Given the description of an element on the screen output the (x, y) to click on. 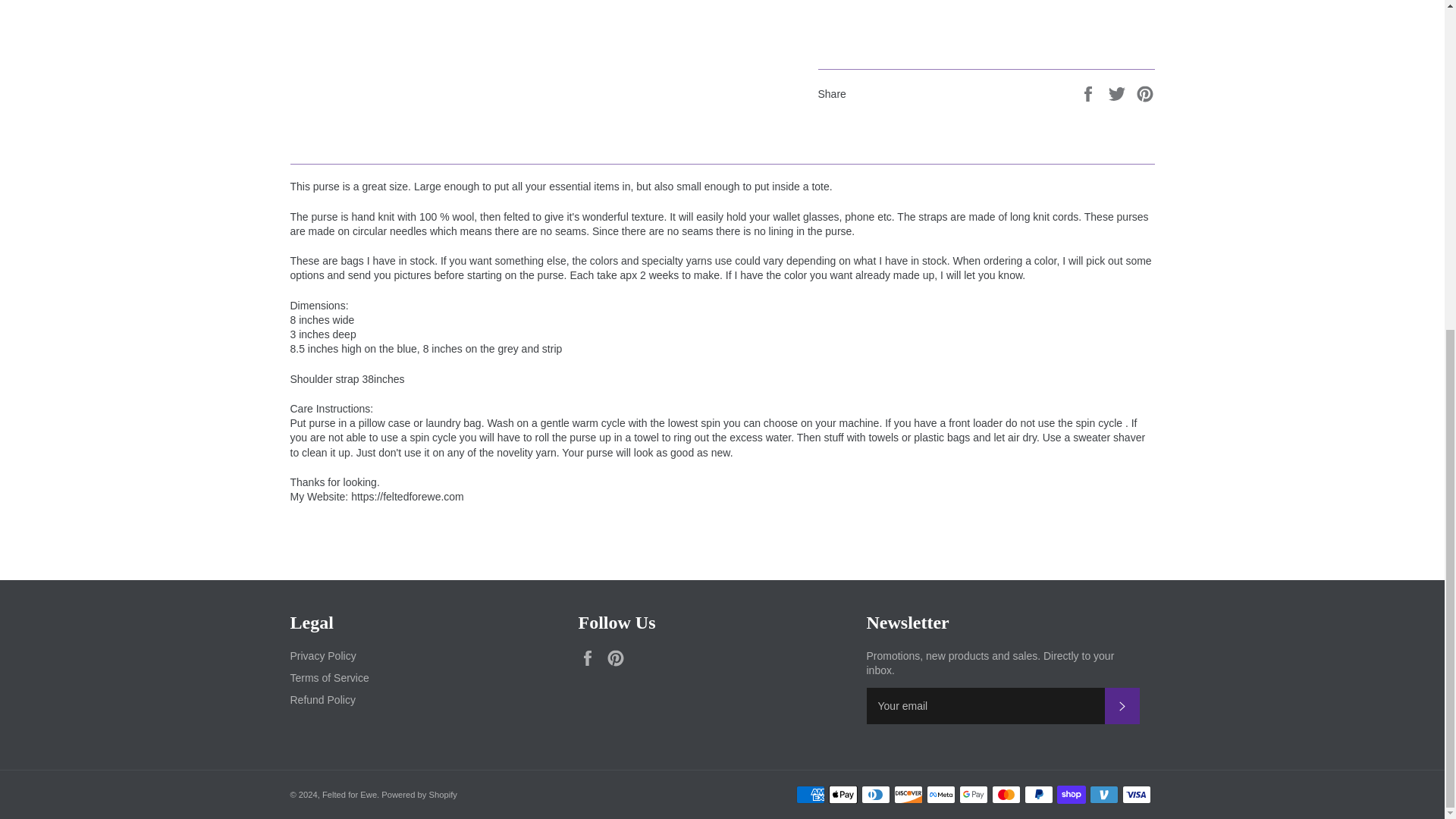
Felted for Ewe on Facebook (591, 658)
Felted for Ewe on Pinterest (619, 658)
Tweet on Twitter (1118, 92)
Pin on Pinterest (1144, 92)
Share on Facebook (1089, 92)
